Given the description of an element on the screen output the (x, y) to click on. 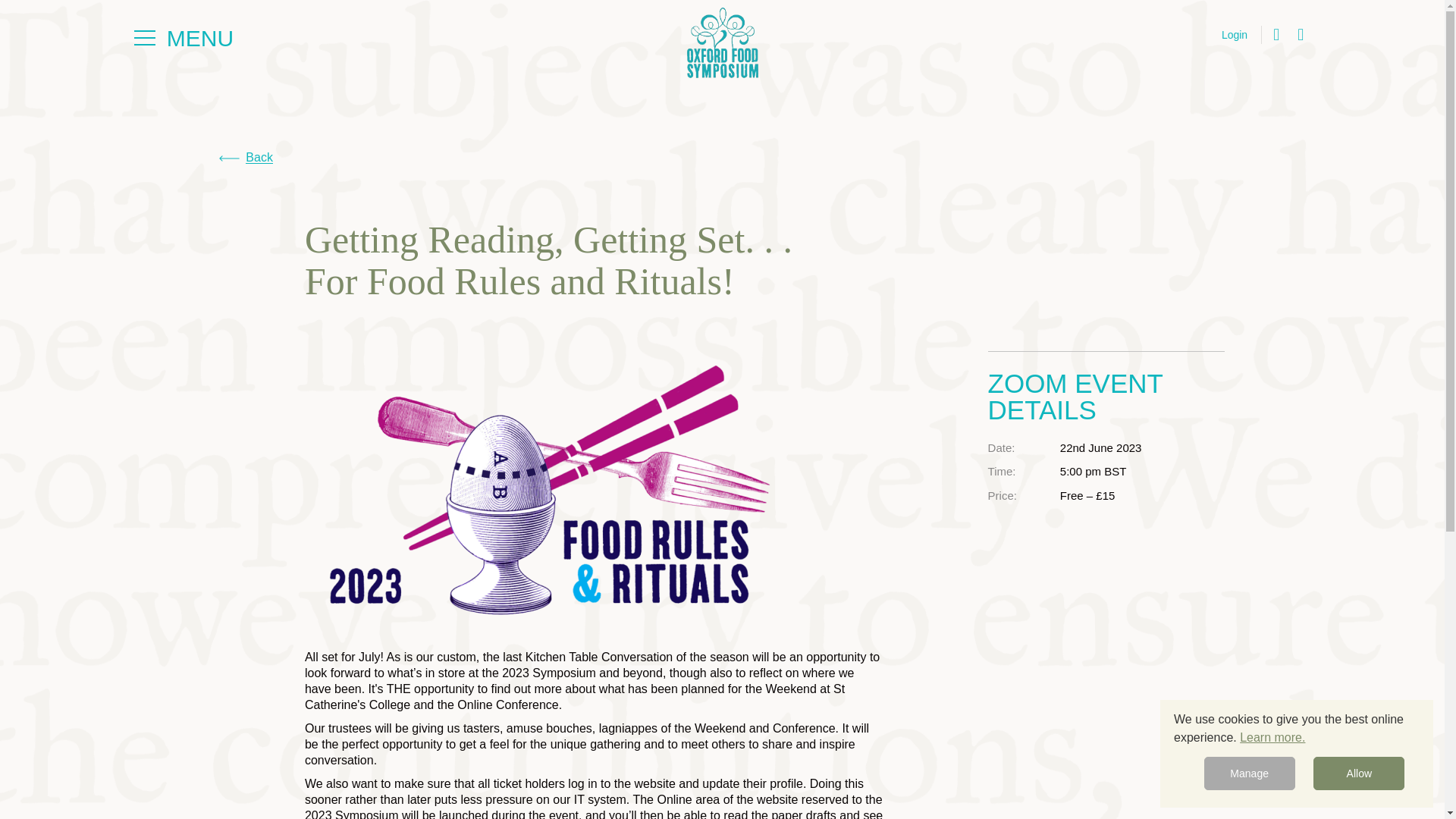
Back (246, 157)
2023-06-22 (1100, 447)
2023-06-22 (1133, 471)
Login (1234, 34)
